Given the description of an element on the screen output the (x, y) to click on. 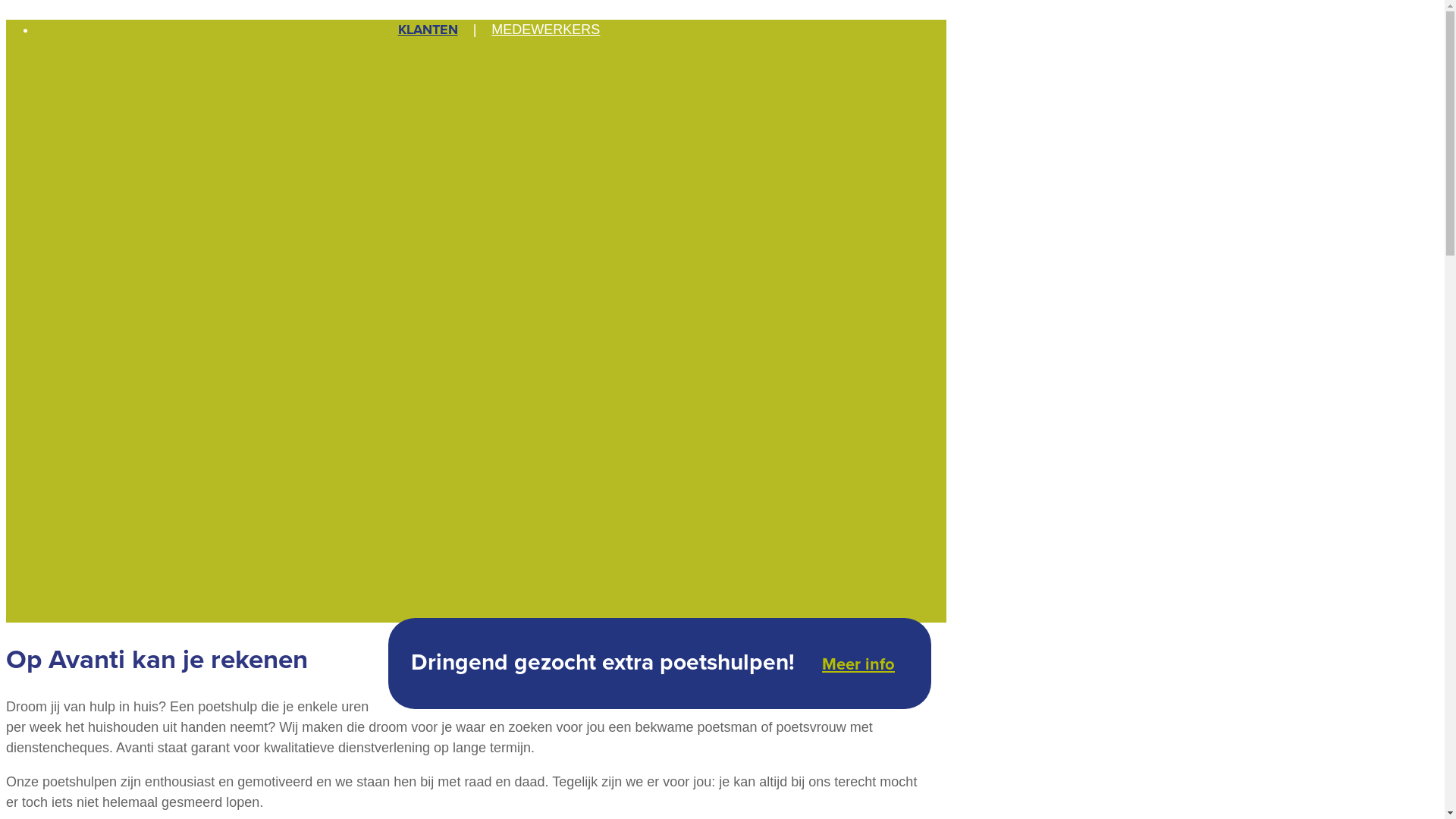
MEDEWERKERS Element type: text (545, 29)
Meer info Element type: text (858, 664)
KLANTEN Element type: text (427, 29)
